Given the description of an element on the screen output the (x, y) to click on. 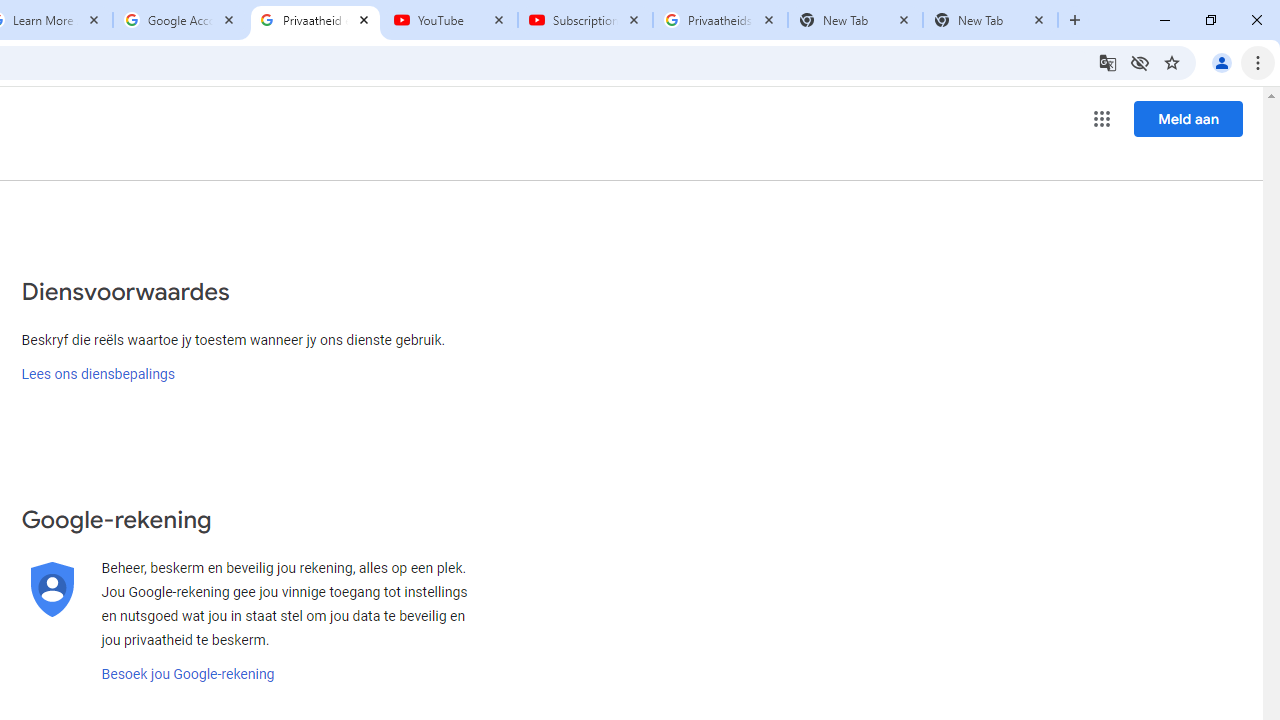
Google Account (180, 20)
Translate this page (1107, 62)
Subscriptions - YouTube (585, 20)
YouTube (450, 20)
New Tab (990, 20)
Besoek jou Google-rekening (188, 674)
